Given the description of an element on the screen output the (x, y) to click on. 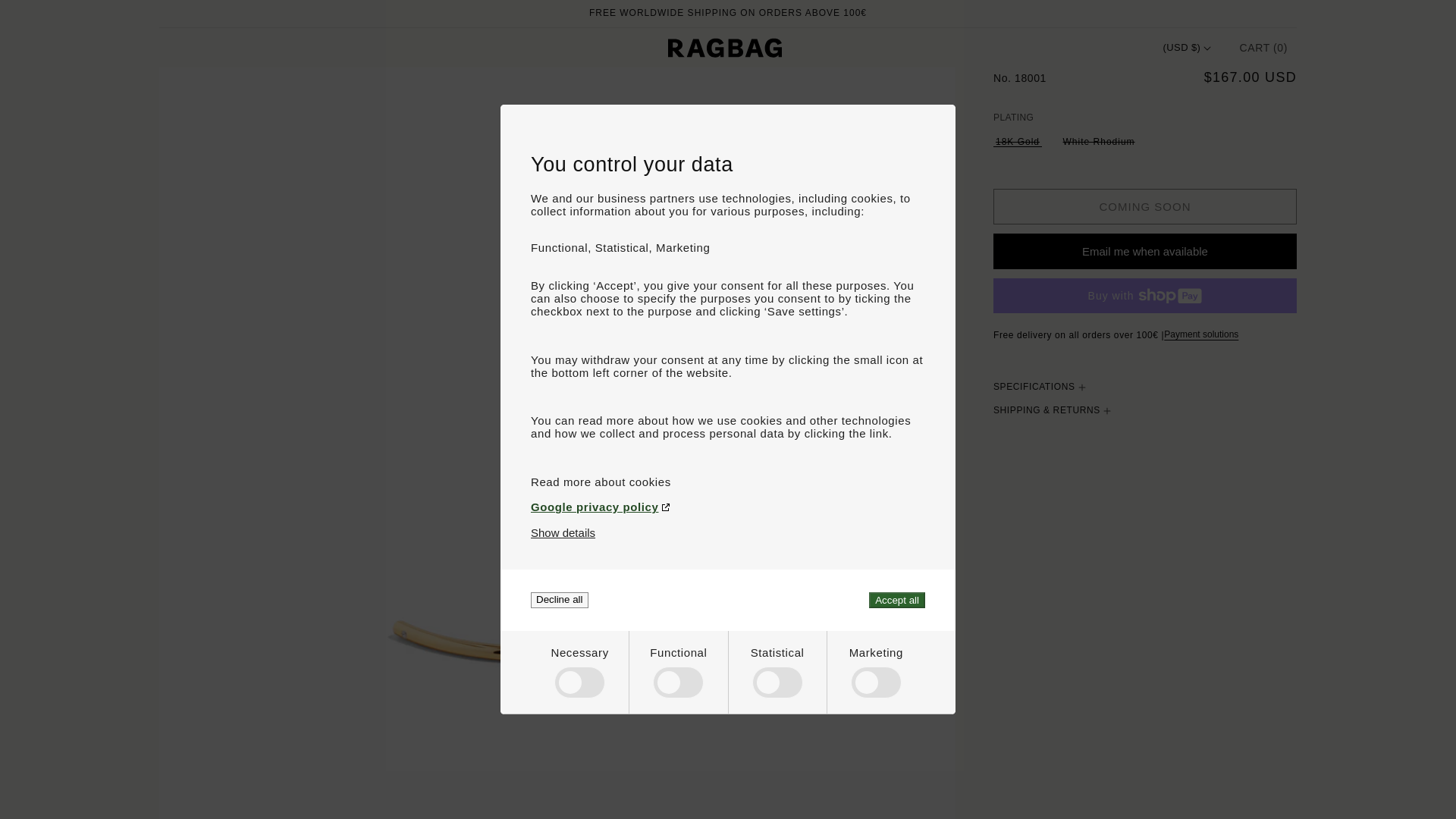
Read more about cookies (727, 481)
Show details (563, 532)
Google privacy policy (727, 506)
